Given the description of an element on the screen output the (x, y) to click on. 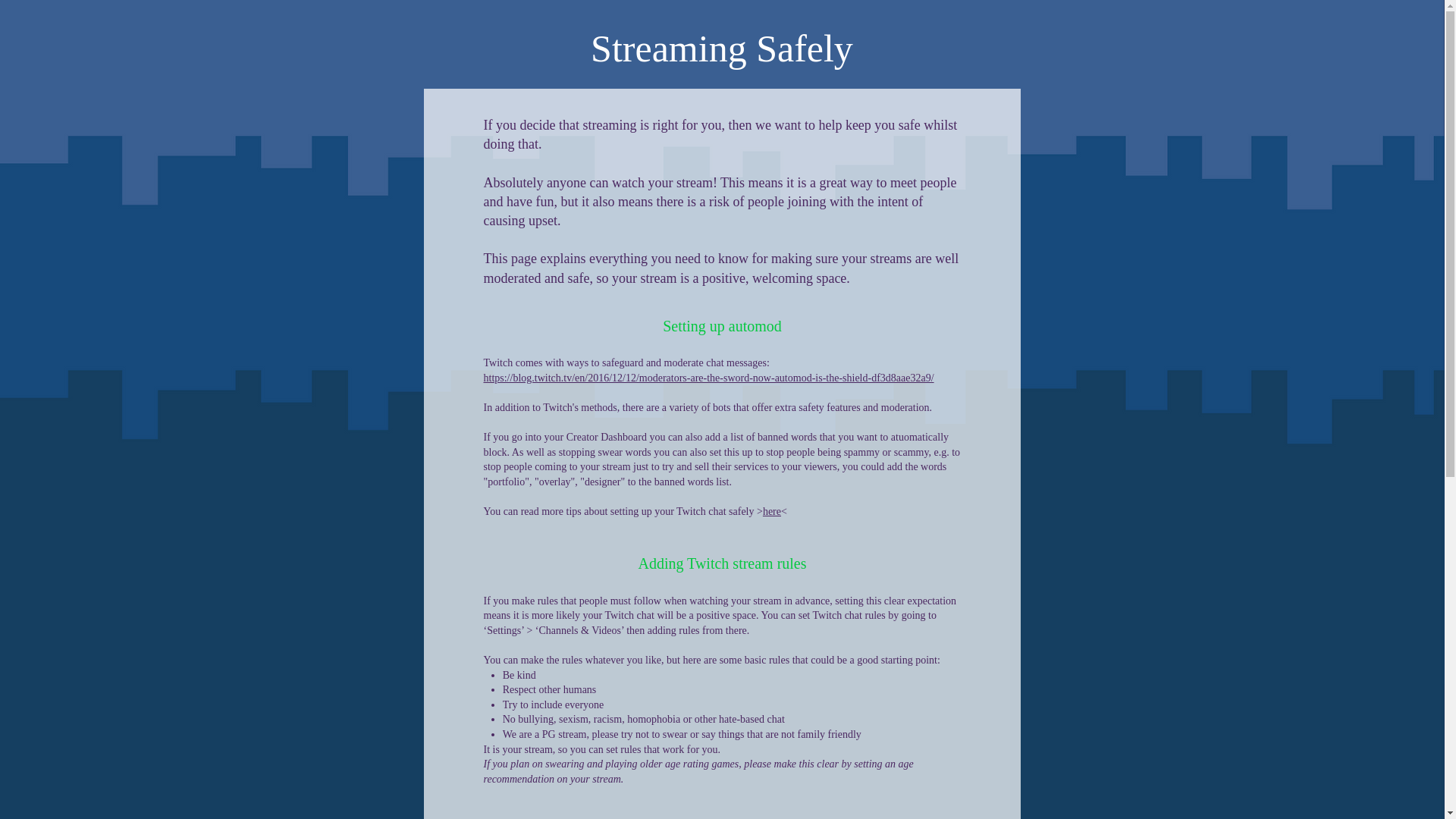
here (771, 511)
